Given the description of an element on the screen output the (x, y) to click on. 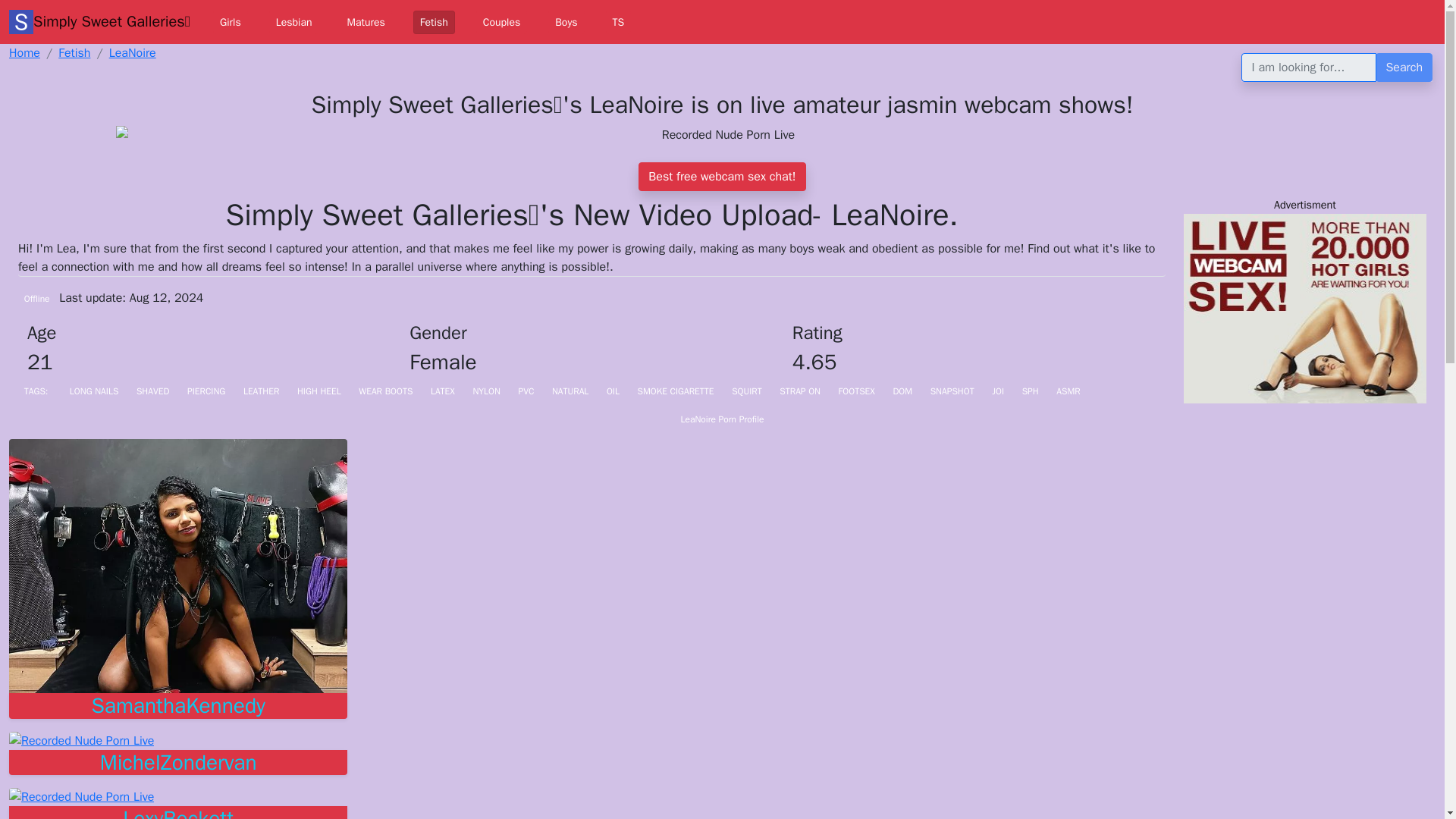
TS (618, 22)
Fetish (74, 52)
Matures (365, 22)
Fetish (433, 22)
Recorded Nude Porn Live (177, 565)
Fetish (433, 22)
Couples (501, 22)
Recorded Nude Porn Live (81, 739)
Recorded Nude Porn Live (177, 762)
SamanthaKennedy (177, 705)
